Given the description of an element on the screen output the (x, y) to click on. 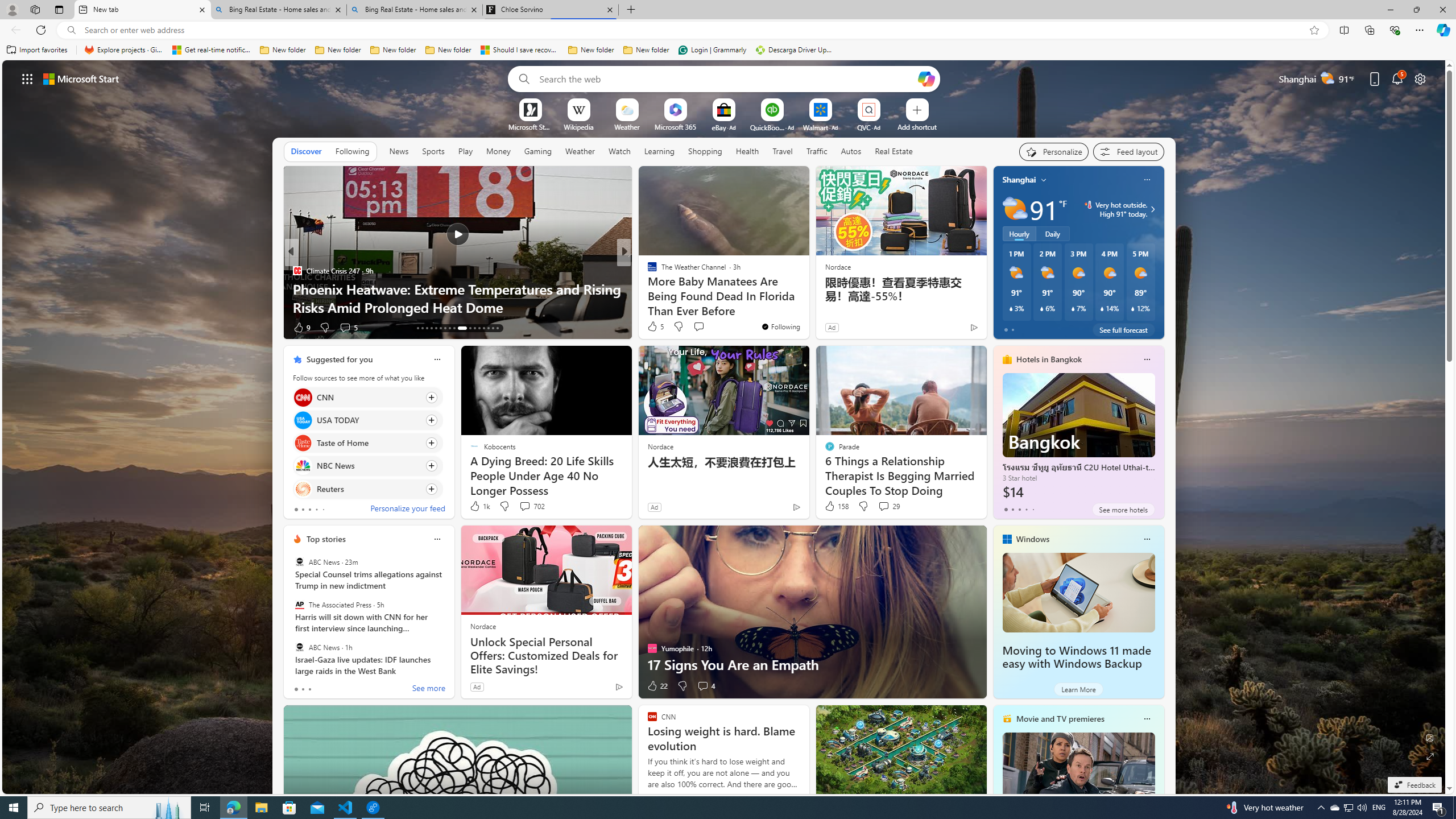
View comments 4 Comment (705, 685)
AutomationID: tab-23 (466, 328)
My location (1043, 179)
Forge of Empires (317, 288)
View comments 1 Comment (702, 327)
The Associated Press (299, 604)
269 Like (654, 327)
Moving to Windows 11 made easy with Windows Backup (1077, 592)
See more hotels (1123, 509)
